Given the description of an element on the screen output the (x, y) to click on. 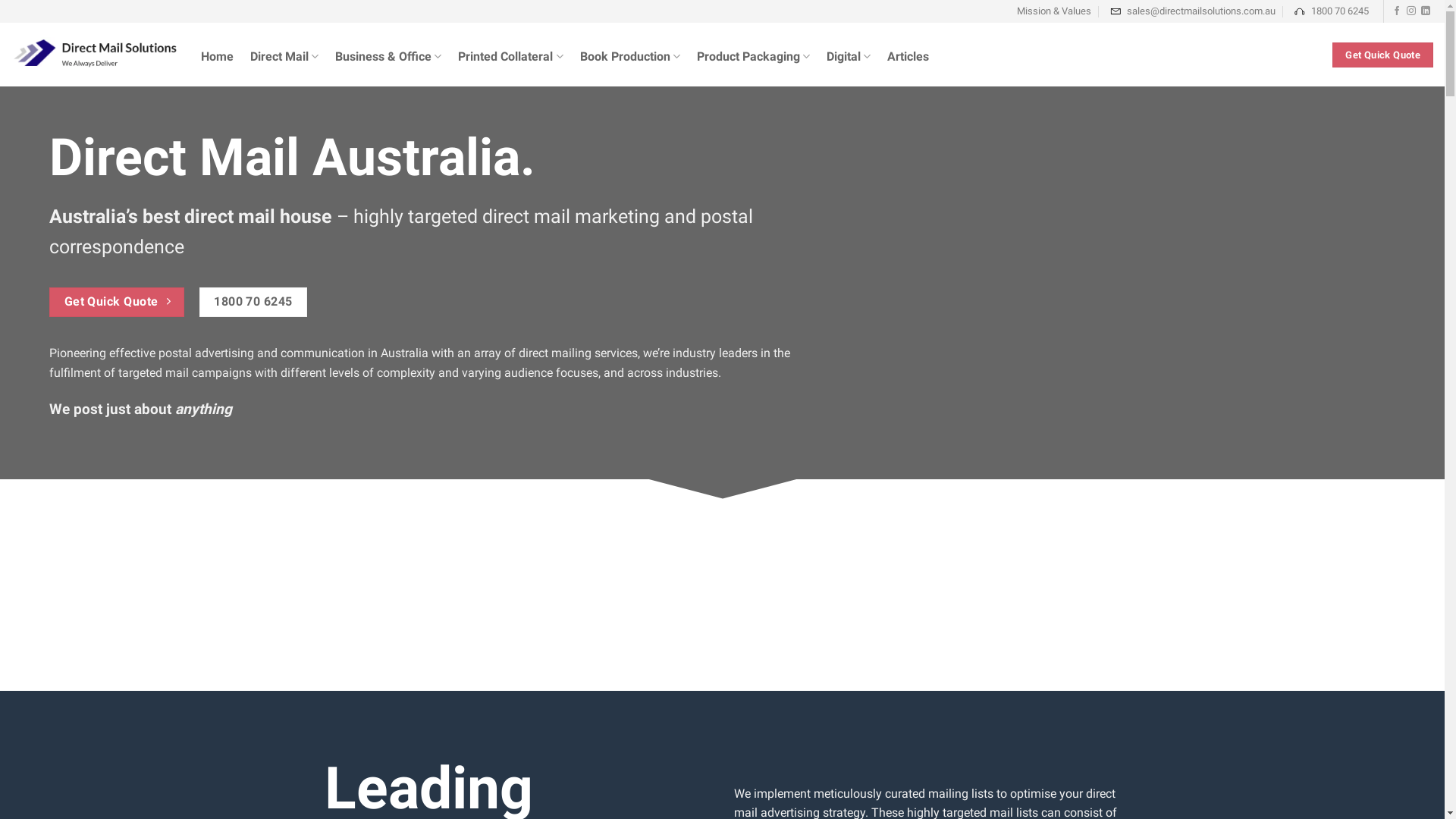
Direct Mail Solutions Element type: hover (94, 54)
Follow on Facebook Element type: hover (1396, 11)
sales@directmailsolutions.com.au Element type: text (1191, 11)
Get Quick Quote Element type: text (116, 301)
Book Production Element type: text (630, 62)
Mission & Values Element type: text (1053, 11)
1800 70 6245 Element type: text (1330, 11)
Home Element type: text (216, 62)
Direct Mail Element type: text (284, 62)
Follow on Instagram Element type: hover (1410, 11)
Articles Element type: text (907, 62)
Digital Element type: text (848, 62)
Product Packaging Element type: text (752, 62)
Business & Office Element type: text (388, 62)
Follow on LinkedIn Element type: hover (1425, 11)
1800 70 6245 Element type: text (253, 301)
Printed Collateral Element type: text (510, 62)
Get Quick Quote Element type: text (1382, 55)
